Given the description of an element on the screen output the (x, y) to click on. 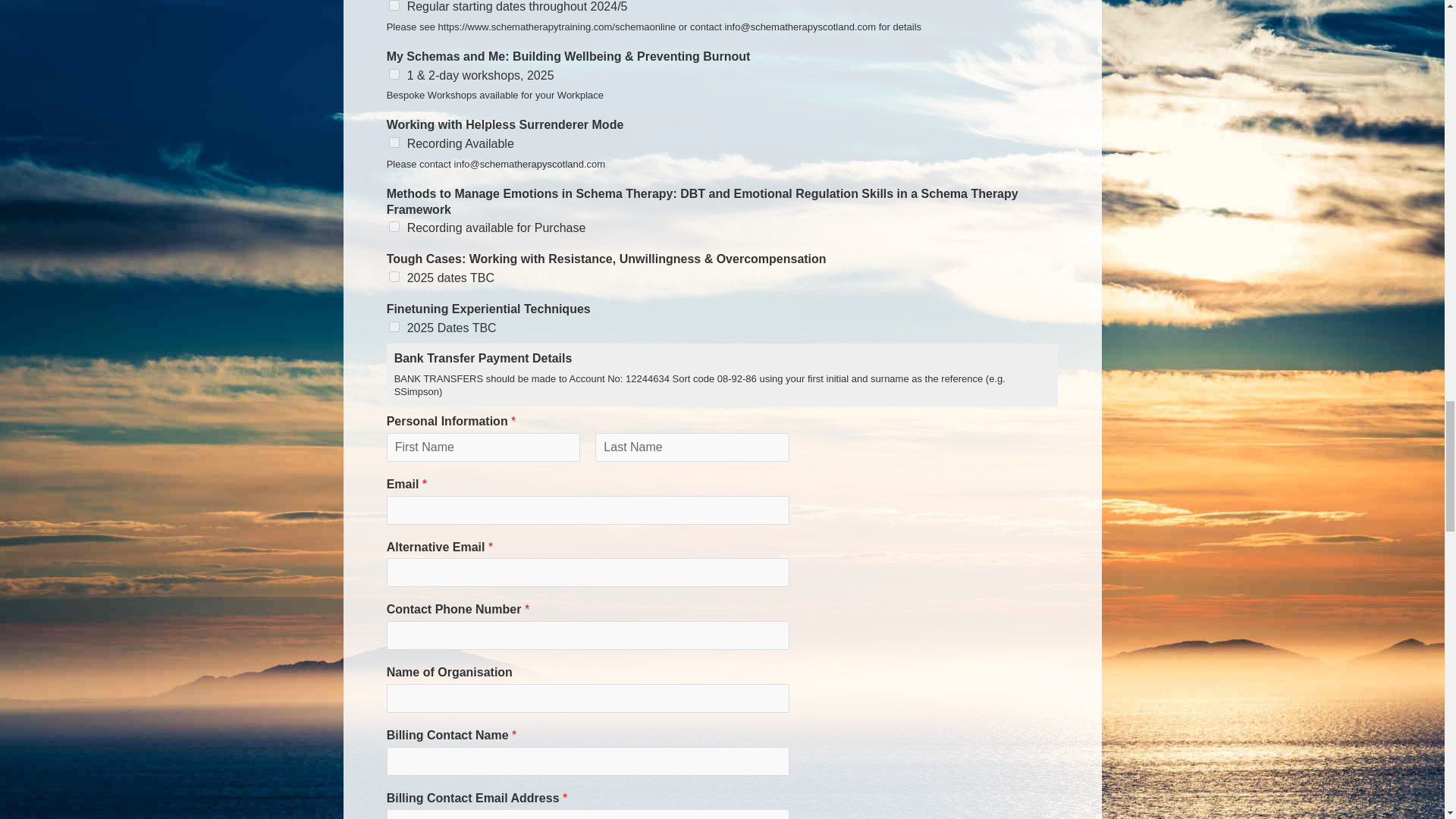
Recording available for Purchase (393, 226)
2025 dates TBC (393, 276)
Recording Available (393, 142)
2025 Dates TBC (393, 326)
